Given the description of an element on the screen output the (x, y) to click on. 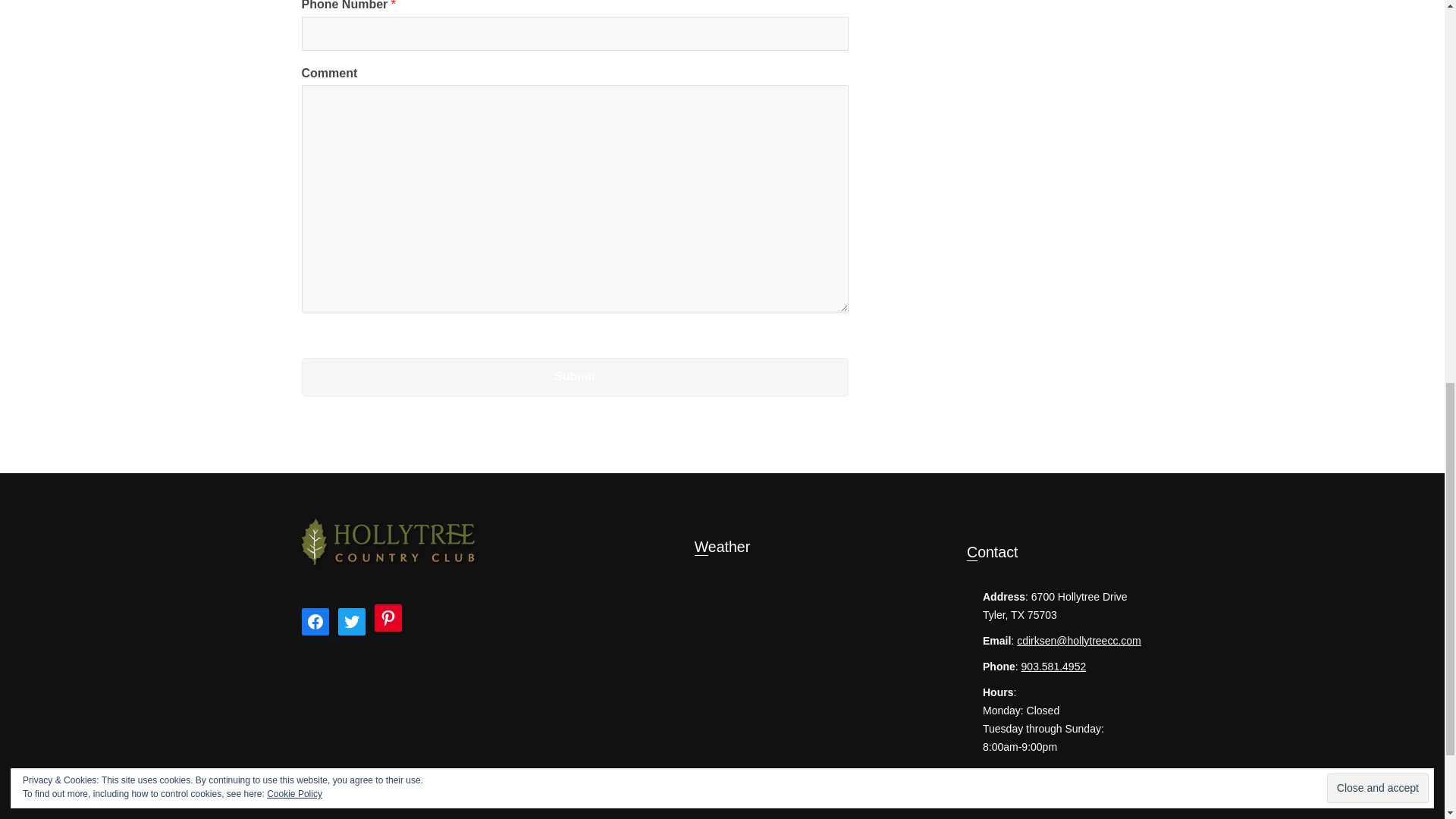
Weather Widget (721, 639)
